Given the description of an element on the screen output the (x, y) to click on. 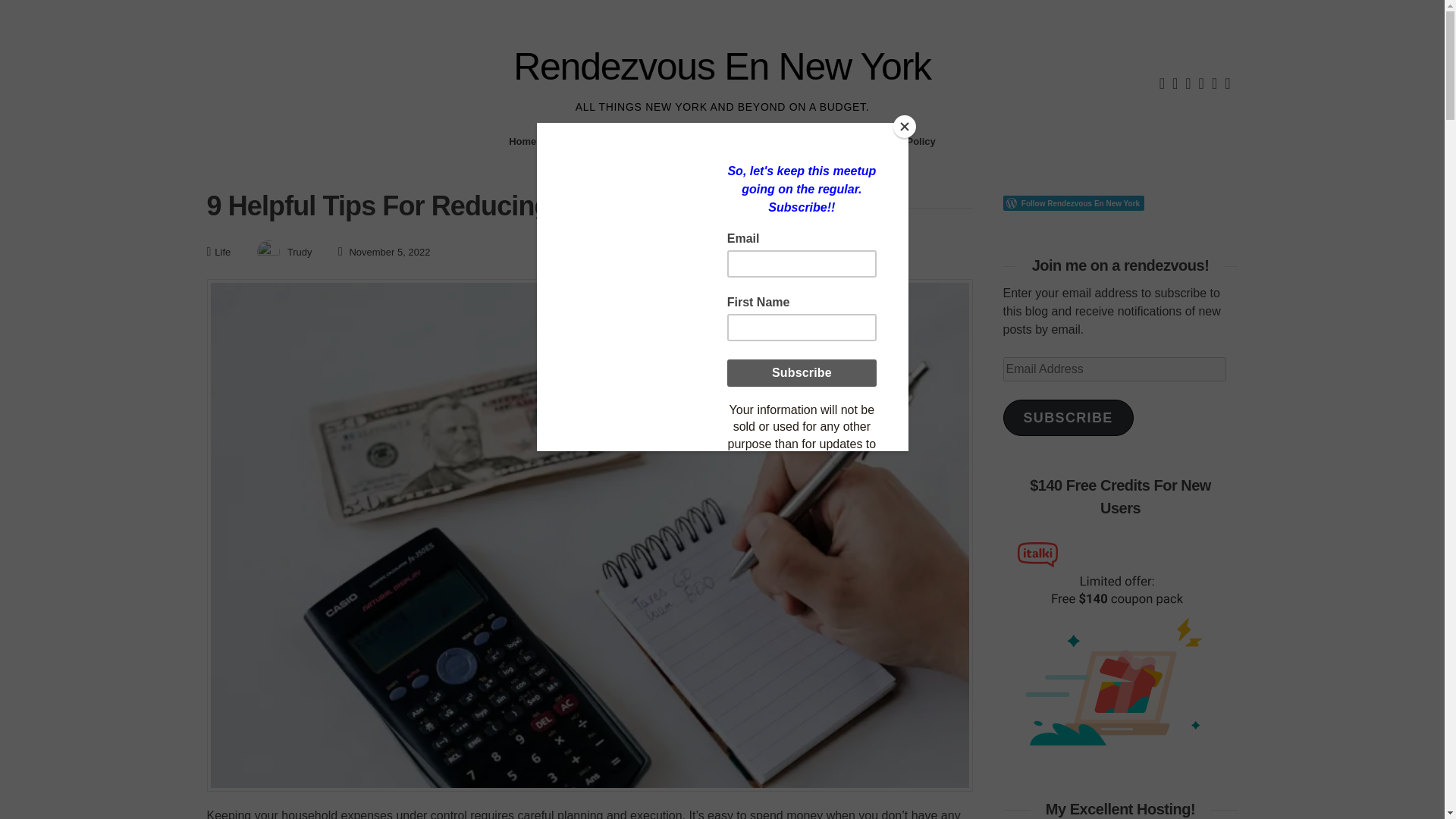
Life (753, 141)
Outings (799, 141)
About (568, 141)
Life (753, 141)
Travel (670, 141)
Contact (619, 141)
Home (521, 141)
Food (715, 141)
Outings (799, 141)
Rendezvous En New York (722, 66)
Art (843, 141)
Life (222, 251)
Privacy Policy (902, 141)
Food (715, 141)
Travel (670, 141)
